Given the description of an element on the screen output the (x, y) to click on. 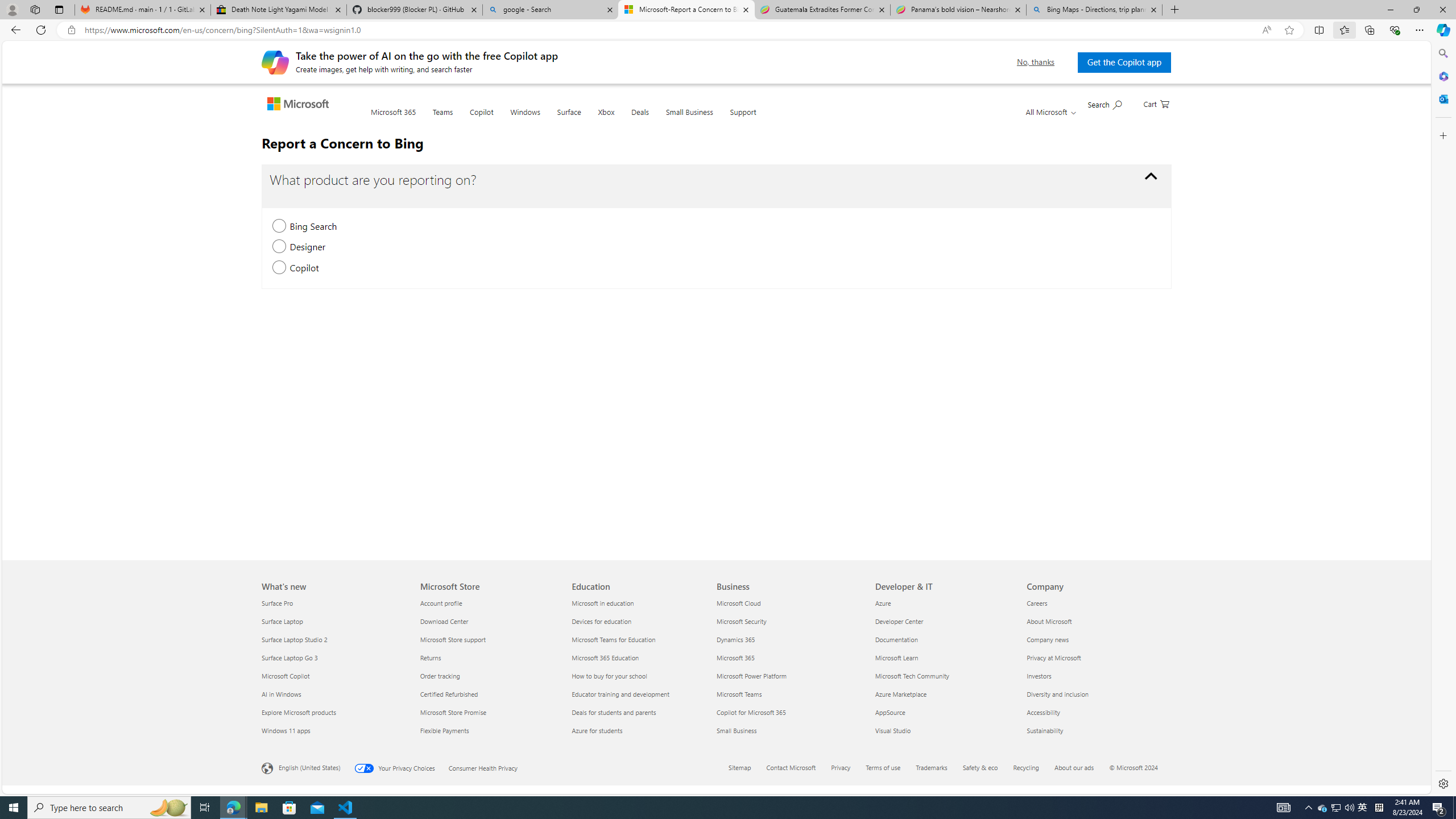
Microsoft Power Platform Business (751, 675)
google - Search (550, 9)
Microsoft Store Promise (489, 711)
AppSource (944, 711)
Educator training and development Education (620, 693)
Visual Studio Developer & IT (893, 729)
Trademarks (931, 766)
Support (743, 118)
Personal Profile (12, 9)
Microsoft Cloud Business (738, 602)
How to buy for your school (641, 675)
Surface Laptop Go 3 (334, 657)
